Given the description of an element on the screen output the (x, y) to click on. 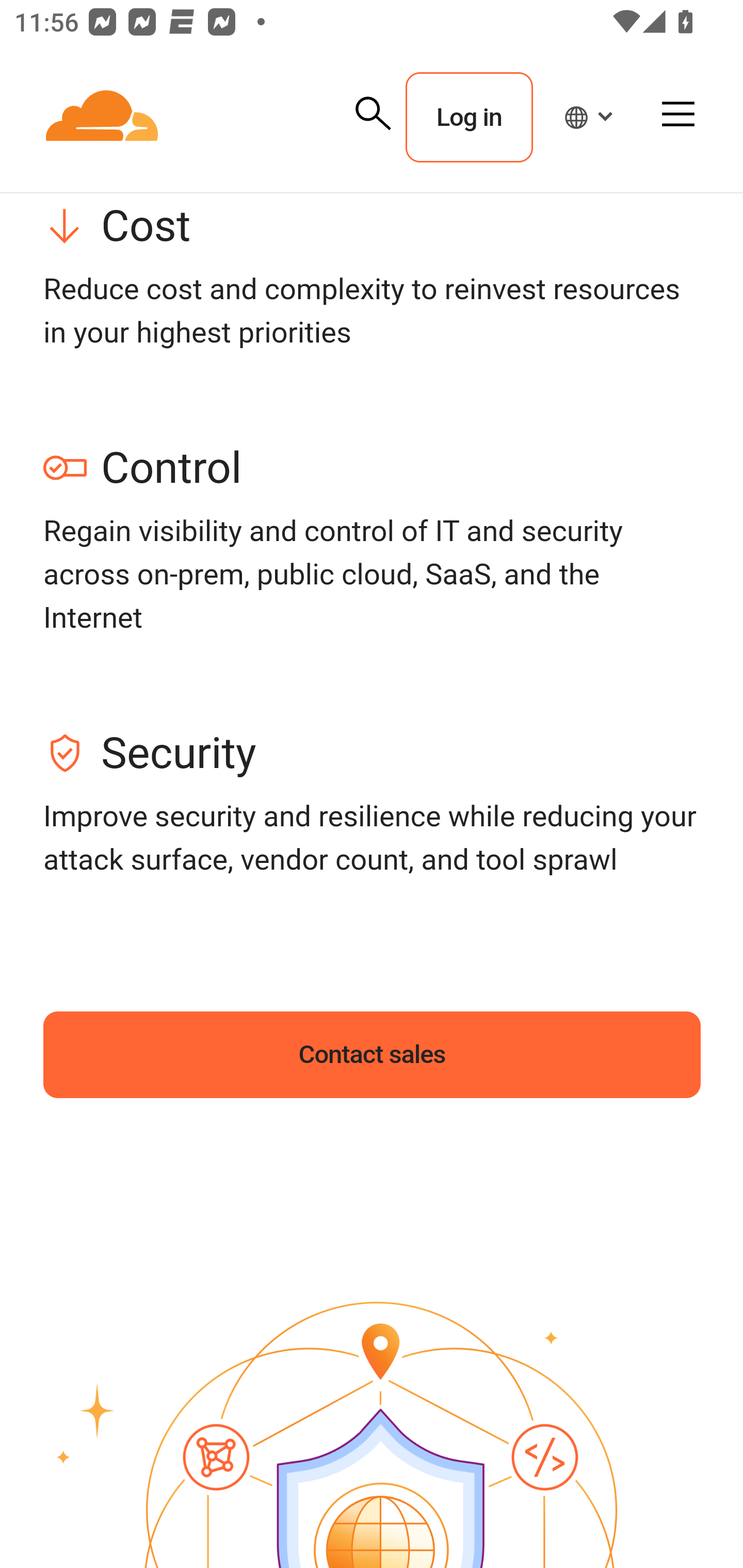
Log in (469, 118)
www.cloudflare (102, 117)
Contact sales (372, 1055)
